Given the description of an element on the screen output the (x, y) to click on. 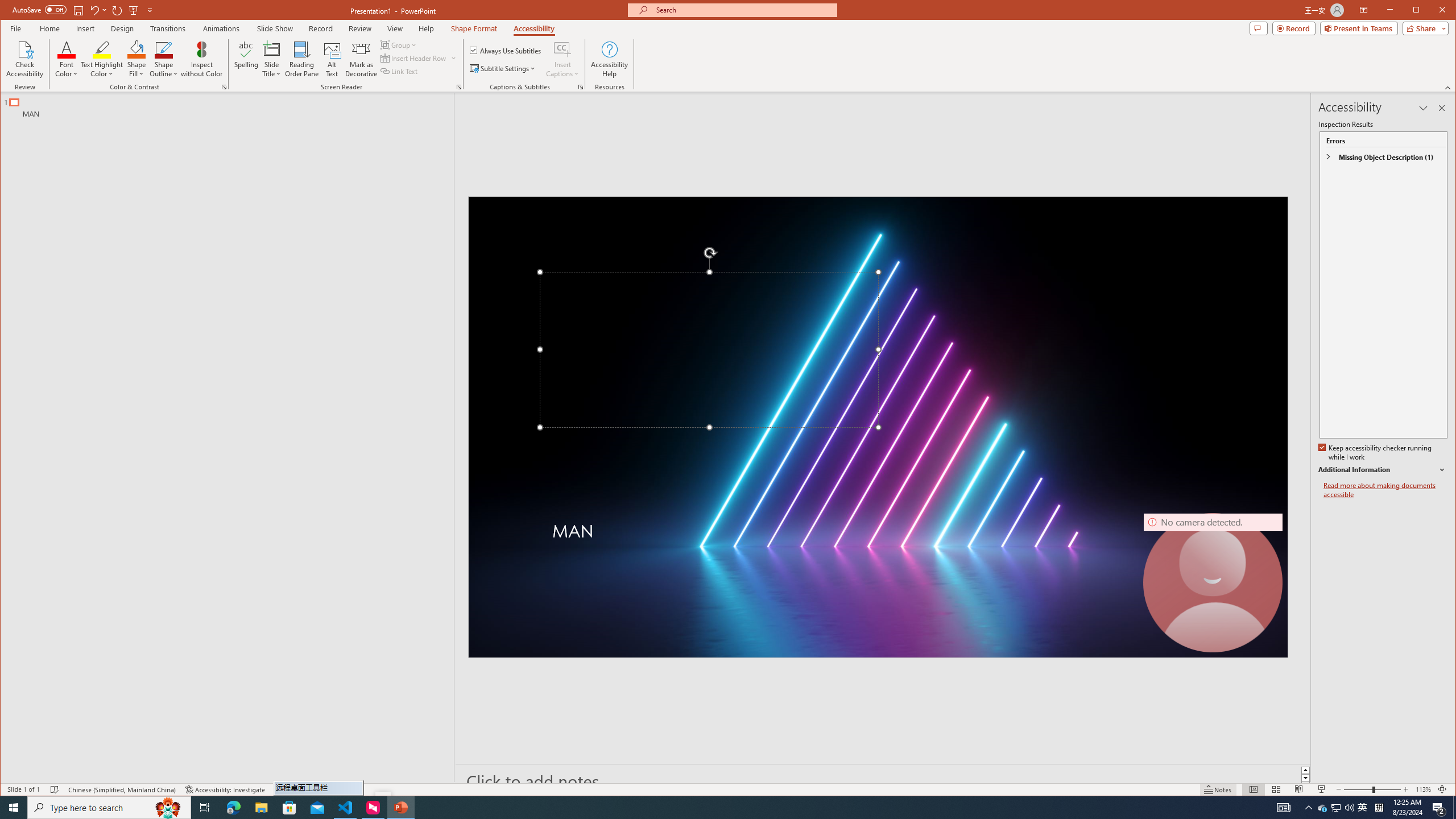
Inspect without Color (201, 59)
Captions & Subtitles (580, 86)
Zoom 113% (1422, 789)
Camera 7, No camera detected. (1213, 582)
